Given the description of an element on the screen output the (x, y) to click on. 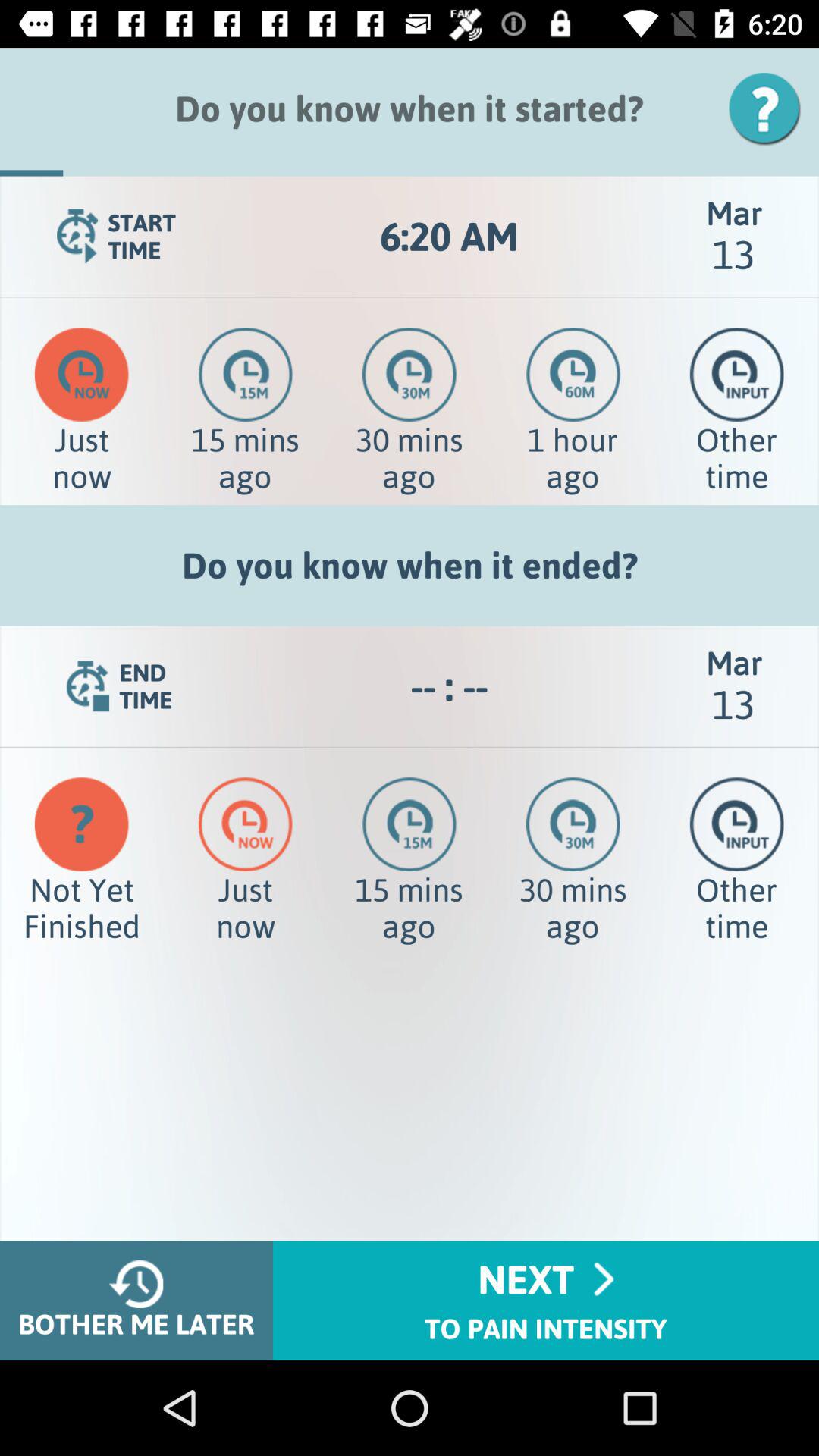
click icon to the left of mar
13 item (448, 236)
